Given the description of an element on the screen output the (x, y) to click on. 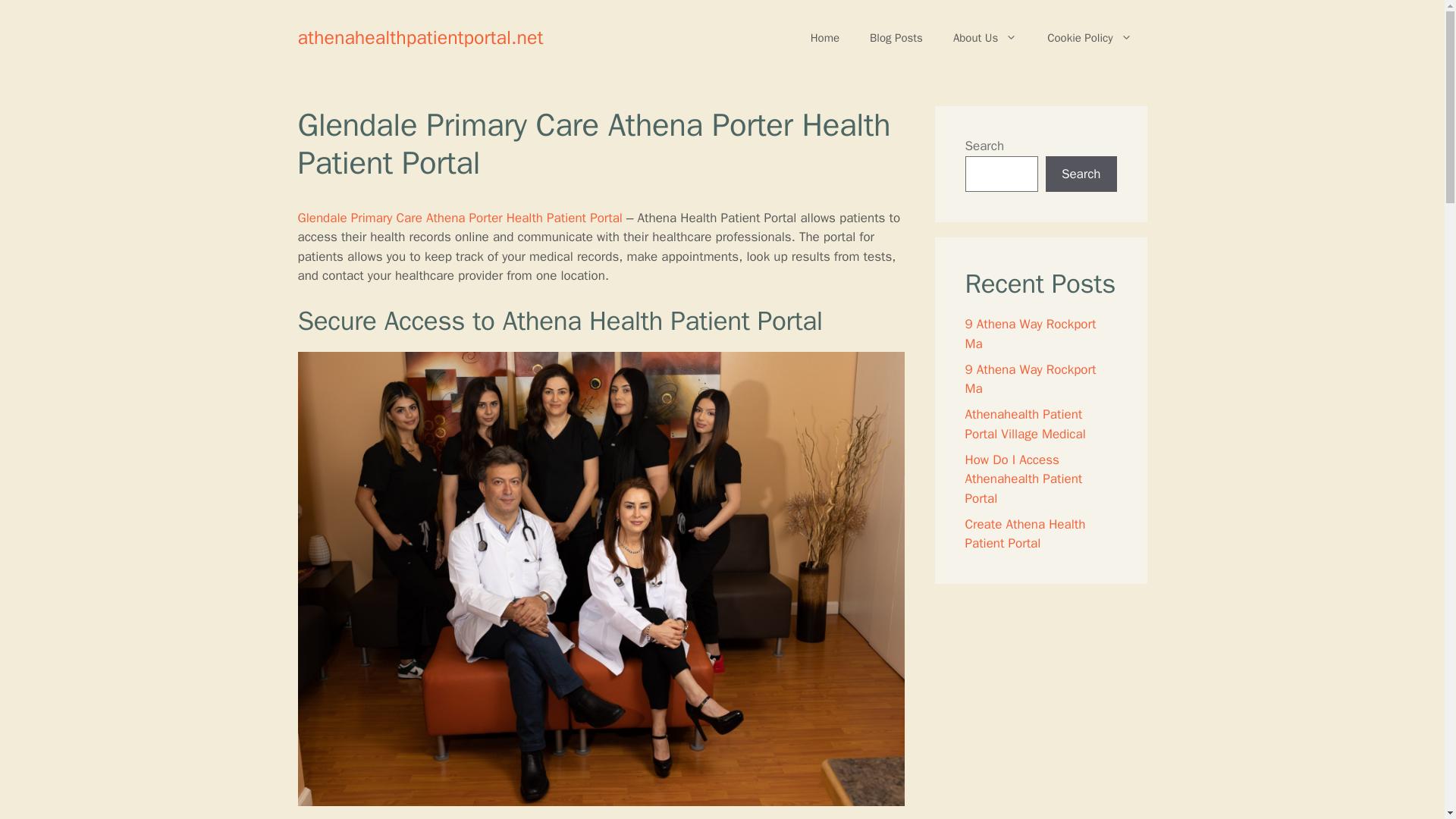
How Do I Access Athenahealth Patient Portal (1022, 479)
Home (824, 37)
athenahealthpatientportal.net (420, 37)
Blog Posts (895, 37)
Athenahealth Patient Portal Village Medical (1023, 424)
About Us (984, 37)
9 Athena Way Rockport Ma (1029, 378)
Create Athena Health Patient Portal (1023, 533)
Search (1080, 174)
Glendale Primary Care Athena Porter Health Patient Portal (459, 217)
9 Athena Way Rockport Ma (1029, 334)
Cookie Policy (1089, 37)
